Given the description of an element on the screen output the (x, y) to click on. 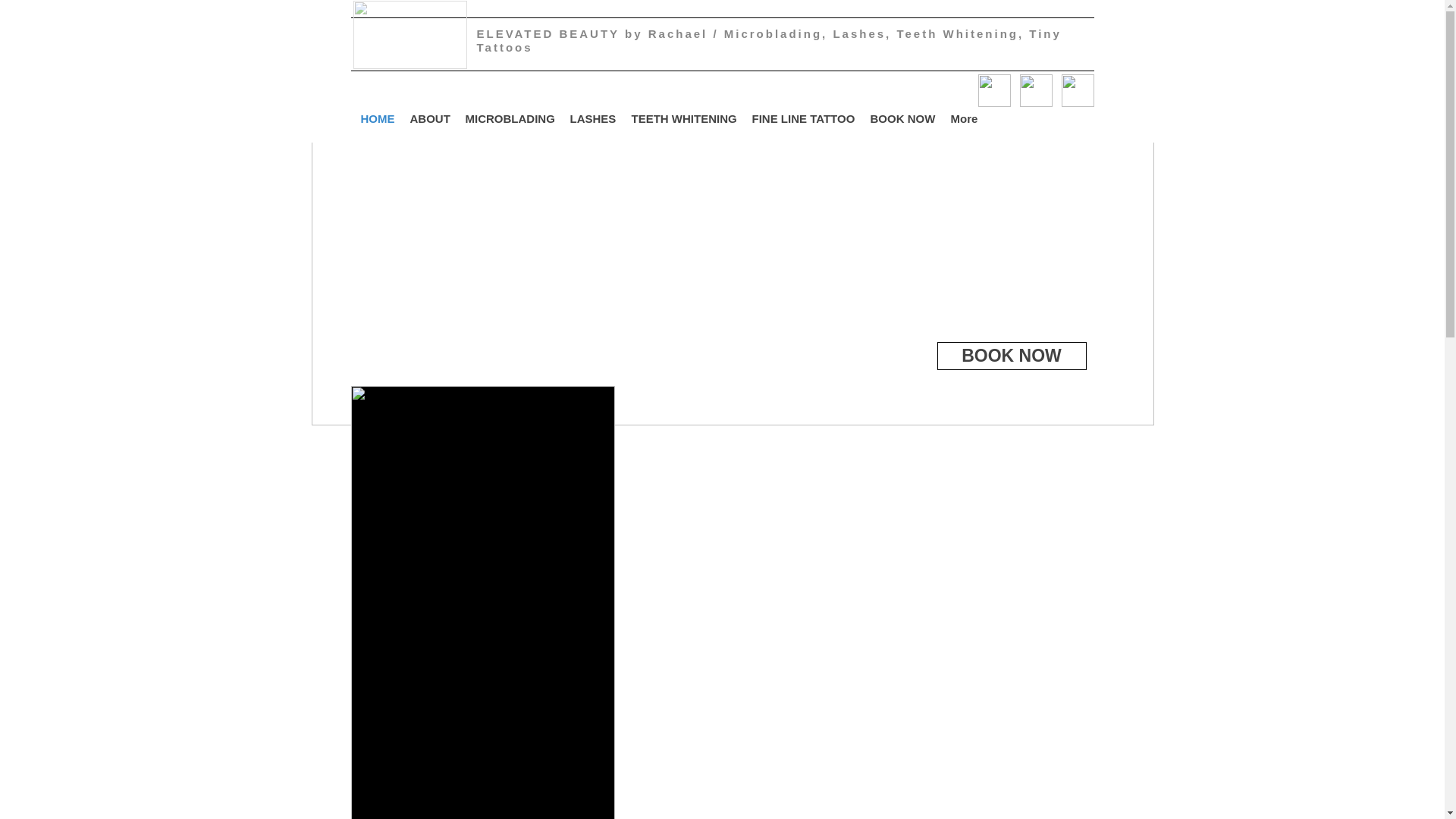
LASHES (593, 118)
FINE LINE TATTOO (803, 118)
TEETH WHITENING (683, 118)
BOOK NOW (903, 118)
HOME (378, 118)
ELEVATED BEAUTY  (550, 33)
BOOK NOW (1011, 356)
ABOUT (429, 118)
MICROBLADING (510, 118)
